Given the description of an element on the screen output the (x, y) to click on. 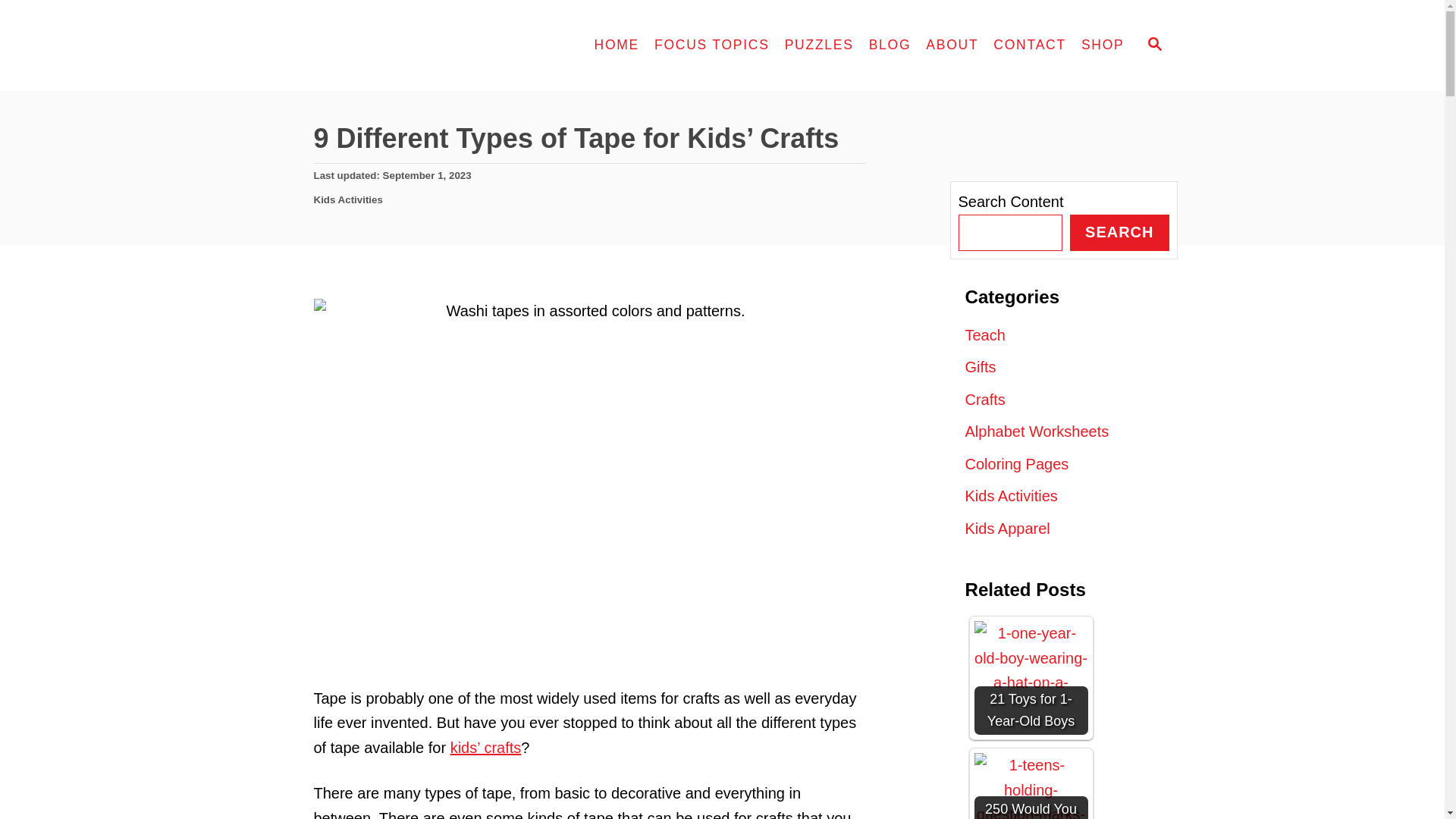
PUZZLES (819, 45)
Kids Activities (348, 199)
FOCUS TOPICS (711, 45)
CONTACT (1029, 45)
ABOUT (951, 45)
SHOP (1103, 45)
BLOG (889, 45)
HOME (616, 45)
SEARCH (1153, 45)
VerbNow (403, 45)
